Given the description of an element on the screen output the (x, y) to click on. 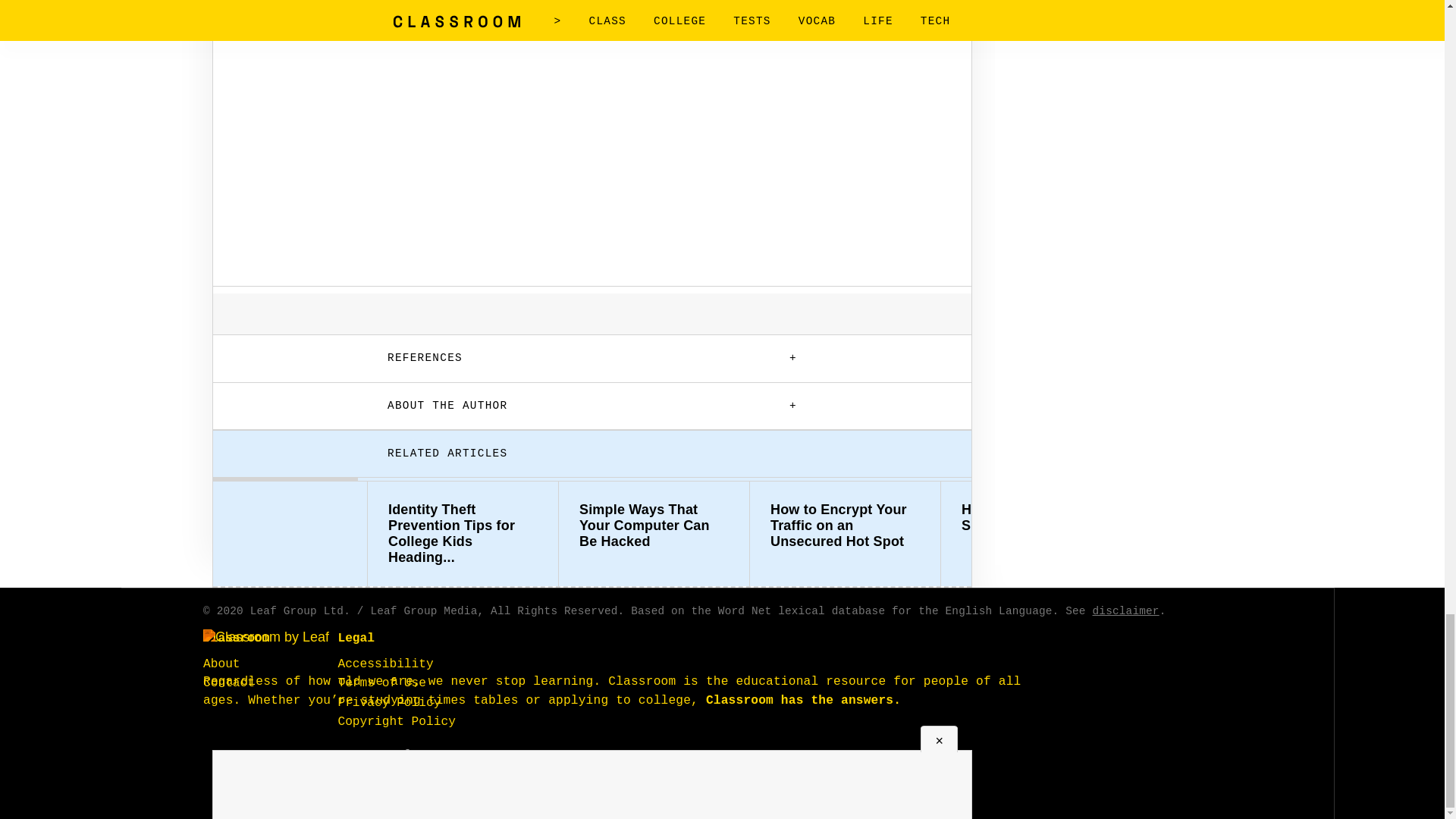
How to Enable Anti-Spoof Checking (1035, 517)
Contact (228, 683)
Types of Computer-Based Training (1227, 517)
Terms of Use (381, 683)
About (221, 663)
Identity Theft Prevention Tips for College Kids Heading... (462, 533)
Accessibility (384, 663)
Copyright Policy (395, 721)
Simple Ways That Your Computer Can Be Hacked (654, 525)
Privacy Policy (389, 702)
